Given the description of an element on the screen output the (x, y) to click on. 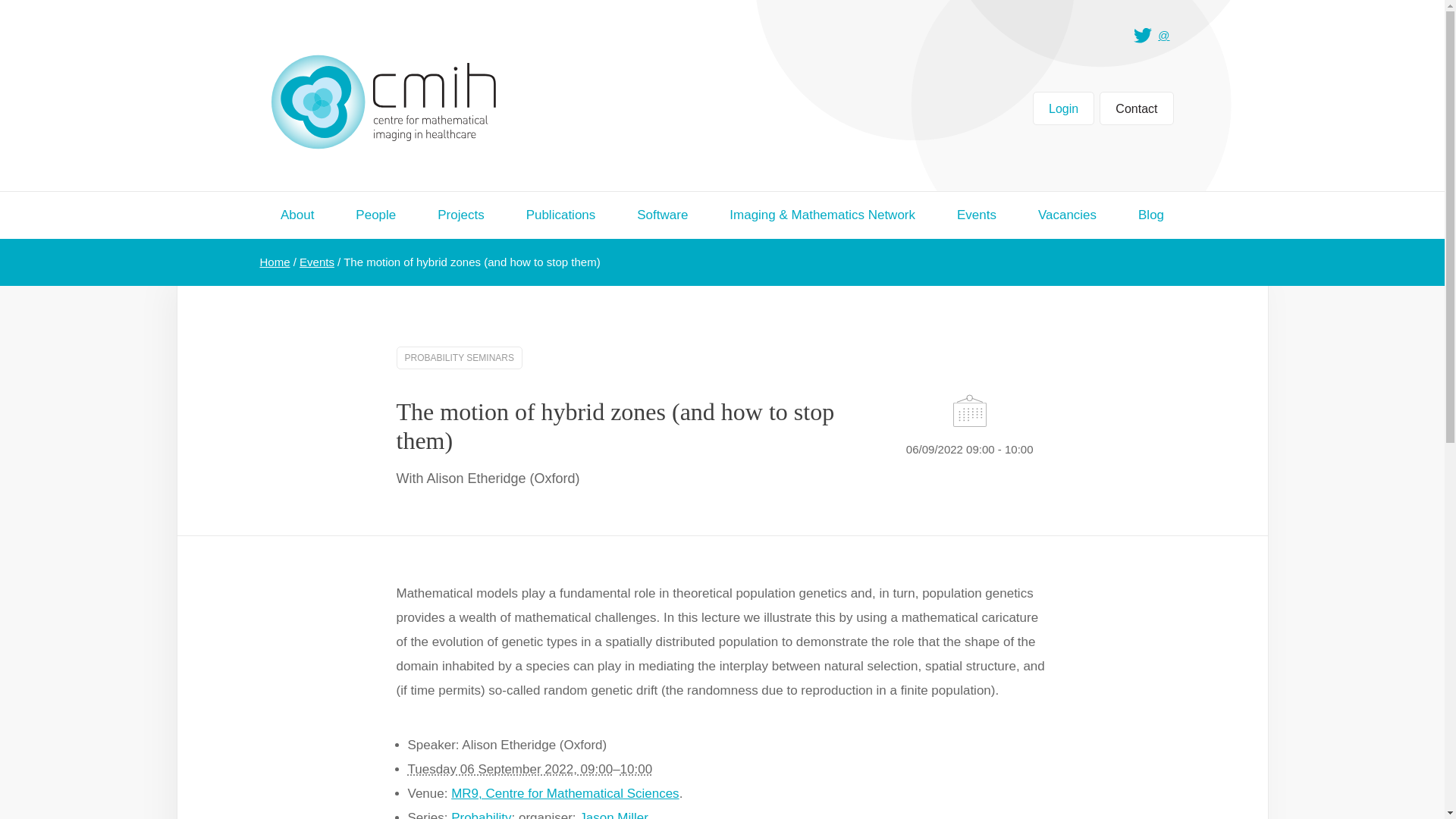
People (375, 215)
20220906T090000 (509, 769)
Vacancies (1066, 215)
Projects (460, 215)
Contact (1136, 108)
Login (1063, 108)
About (296, 215)
20220906T100000 (636, 769)
Probability (481, 814)
MR9, Centre for Mathematical Sciences (564, 793)
Home (274, 261)
Events (976, 215)
Blog (1151, 215)
Publications (560, 215)
Jason Miller (613, 814)
